Given the description of an element on the screen output the (x, y) to click on. 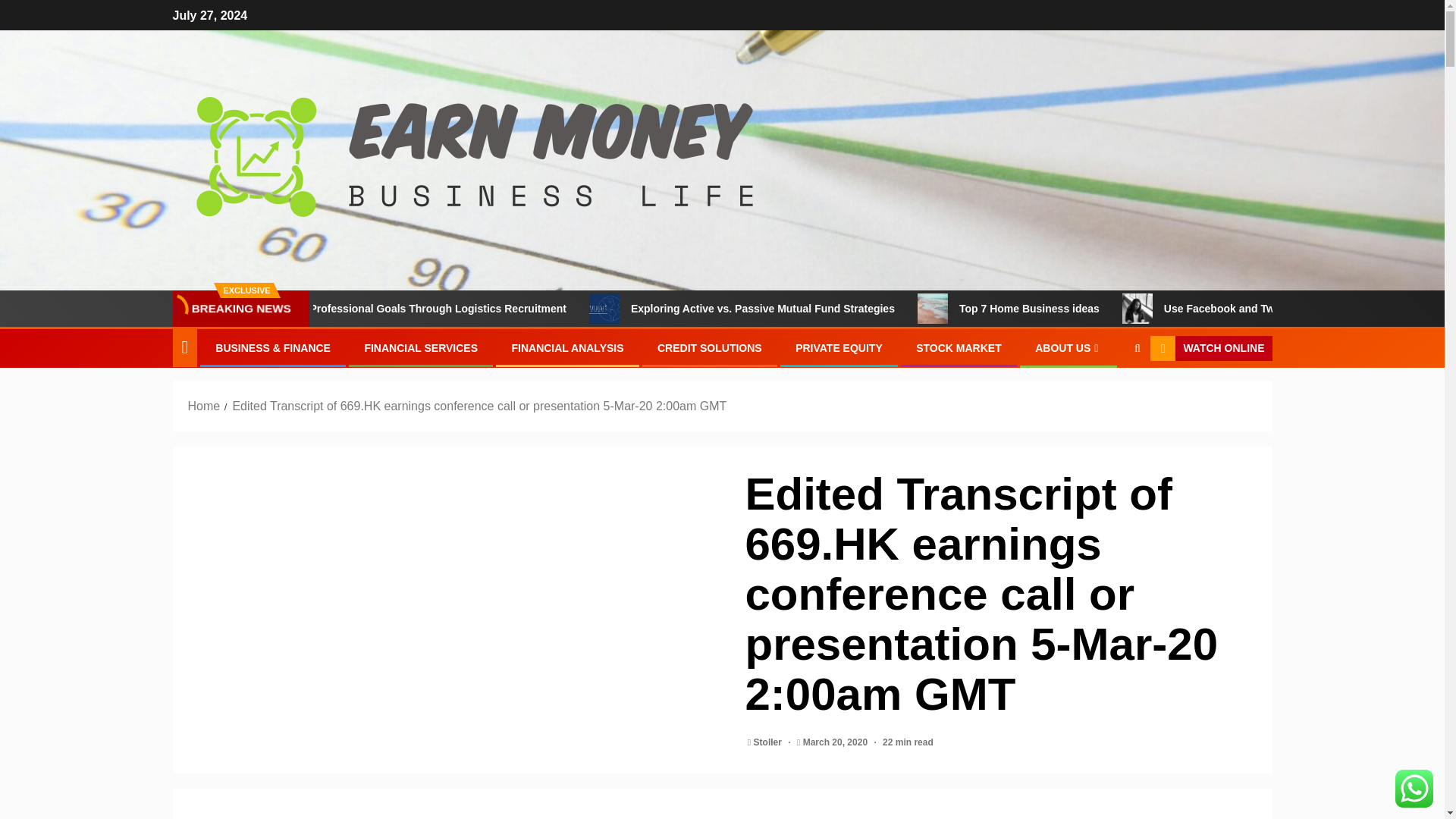
Exploring Active vs. Passive Mutual Fund Strategies (839, 308)
Top 7 Home Business ideas (1105, 308)
Use Facebook and Twitter to Grow Your Business (1197, 308)
ABOUT US (1068, 347)
Meeting Professional Goals Through Logistics Recruitment (493, 308)
FINANCIAL SERVICES (420, 347)
FINANCIAL ANALYSIS (567, 347)
Stoller (769, 742)
CREDIT SOLUTIONS (709, 347)
Top 7 Home Business ideas (994, 308)
Search (1107, 394)
Home (204, 405)
Exploring Active vs. Passive Mutual Fund Strategies (667, 308)
PRIVATE EQUITY (838, 347)
